Given the description of an element on the screen output the (x, y) to click on. 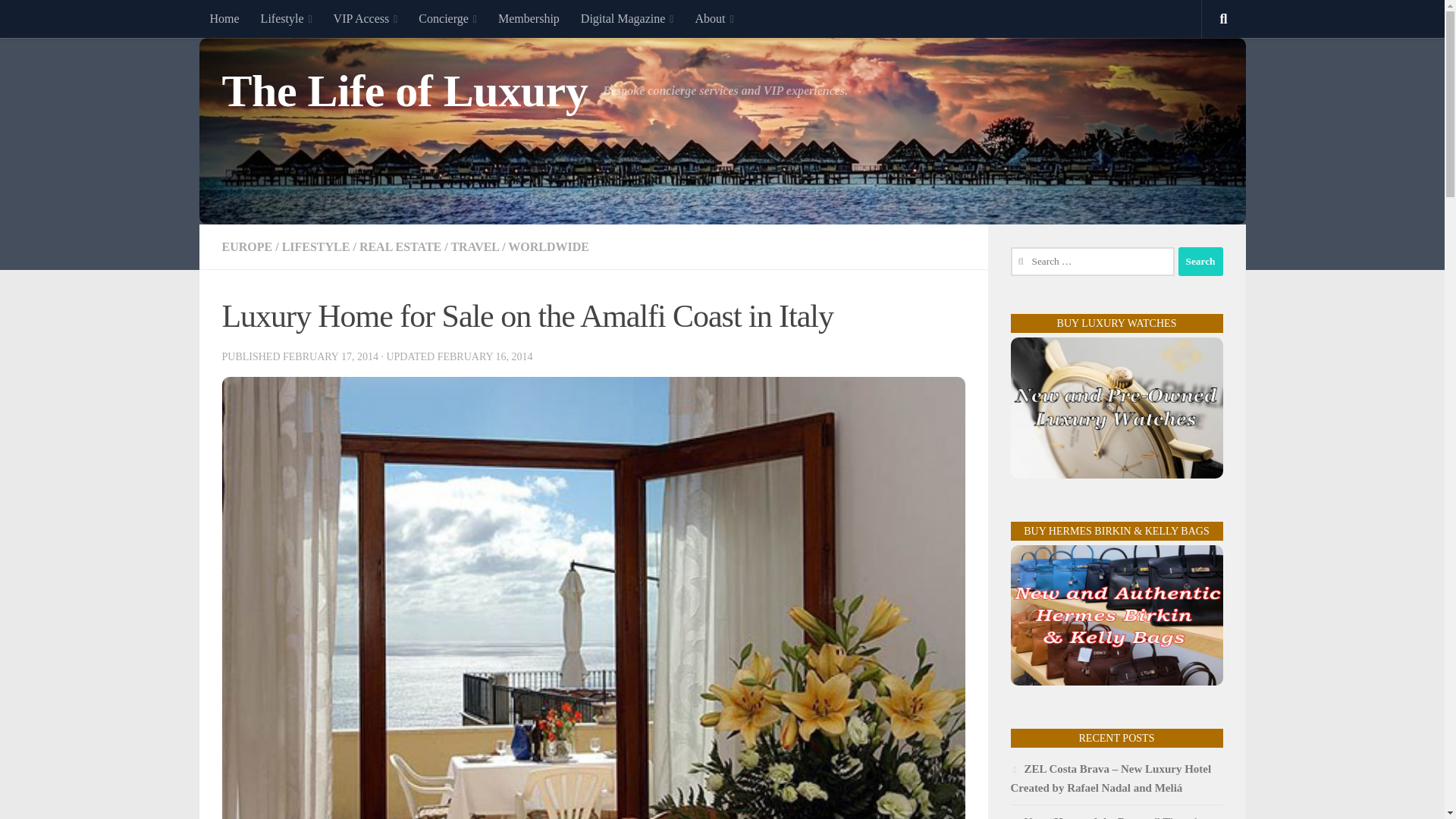
Skip to content (59, 20)
Search (1200, 261)
Search (1200, 261)
